Given the description of an element on the screen output the (x, y) to click on. 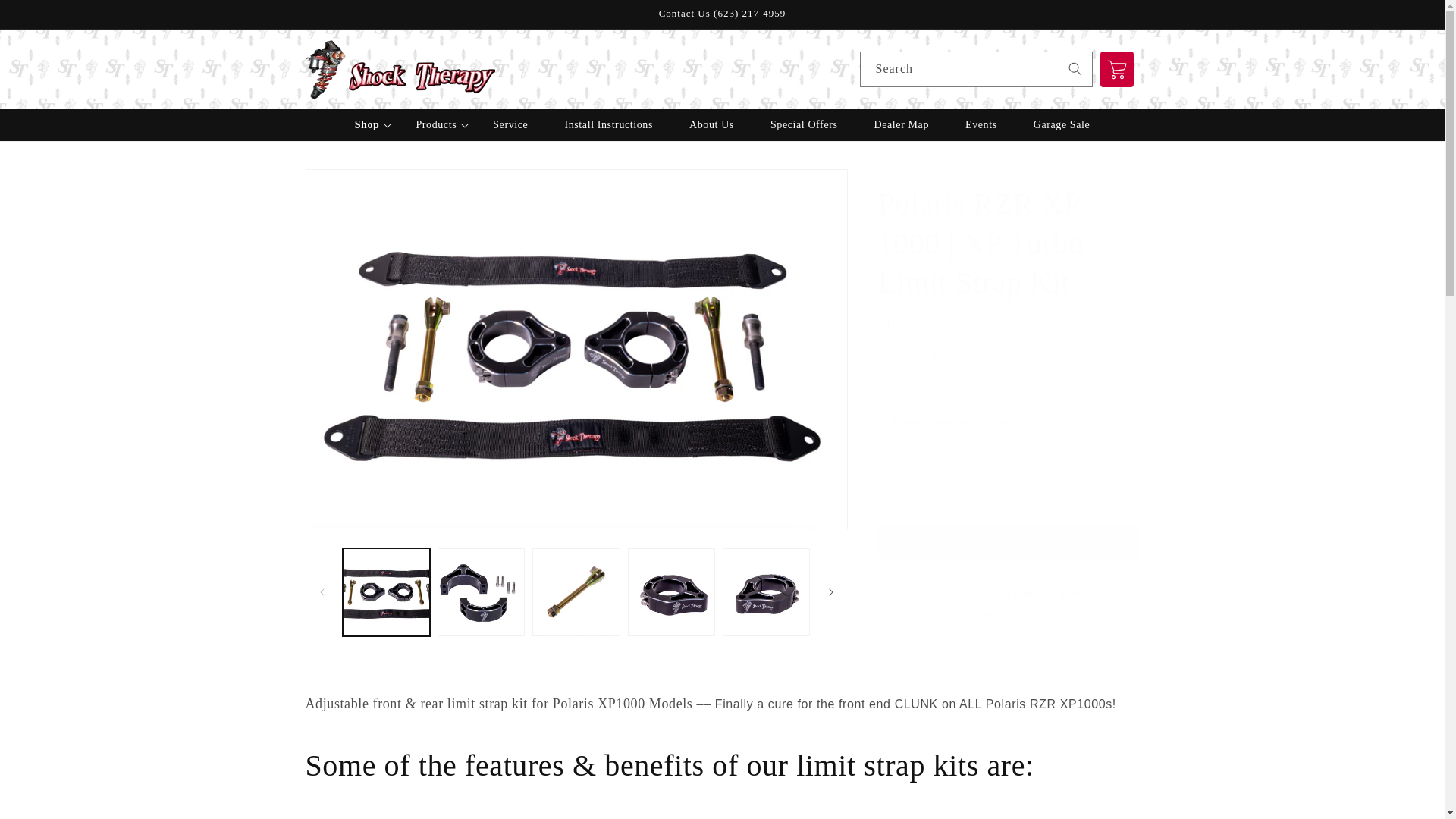
Skip to content (45, 17)
1 (931, 497)
